Given the description of an element on the screen output the (x, y) to click on. 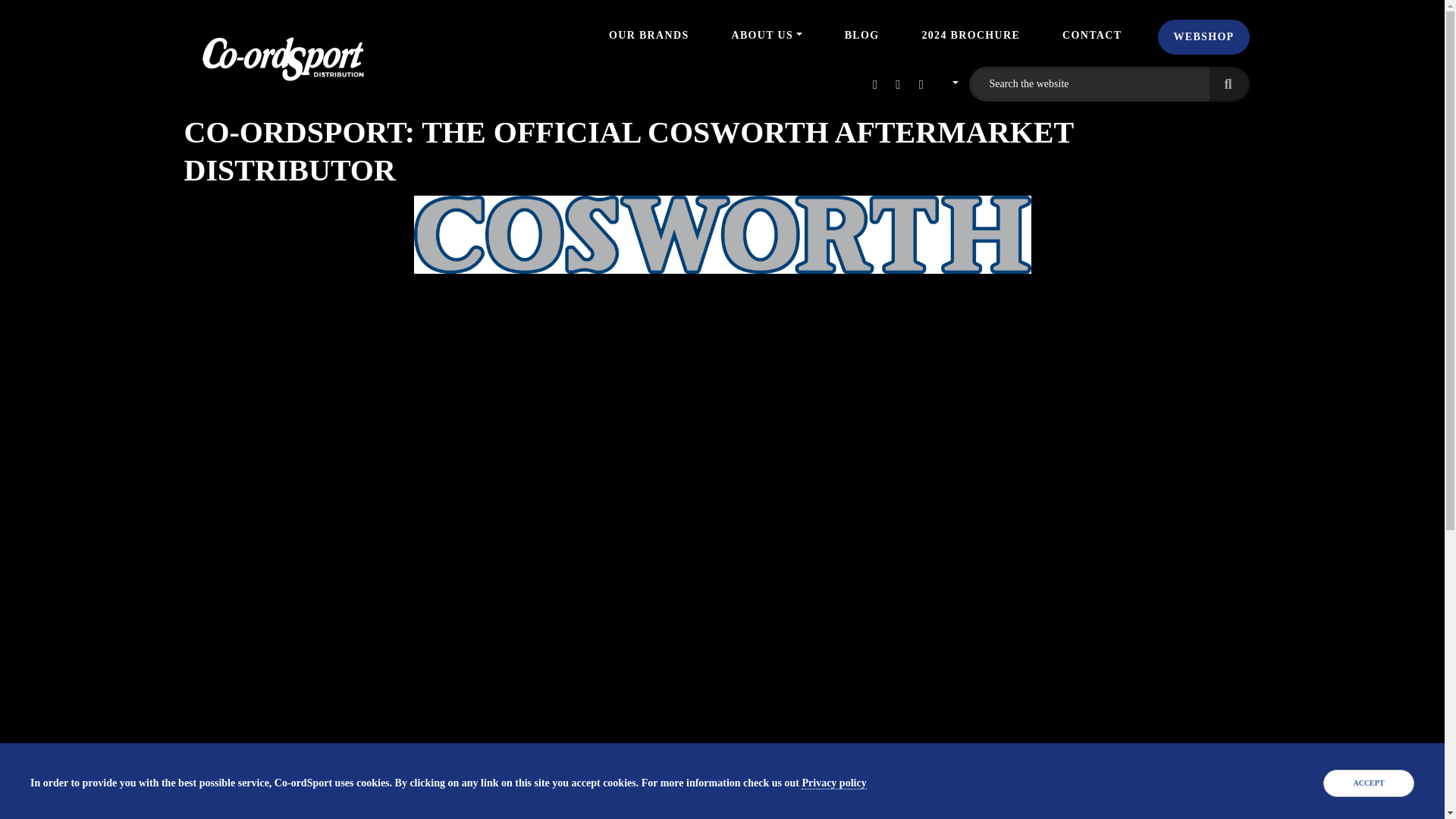
BLOG (861, 35)
WEBSHOP (1203, 36)
2024 BROCHURE (970, 35)
Contact (1091, 35)
ABOUT US (766, 35)
Privacy policy (834, 783)
About Us (766, 35)
Our Brands (648, 35)
Webshop (1203, 36)
Blog (861, 35)
OUR BRANDS (648, 35)
ACCEPT (1368, 782)
CONTACT (1091, 35)
2024 Brochure (970, 35)
